Given the description of an element on the screen output the (x, y) to click on. 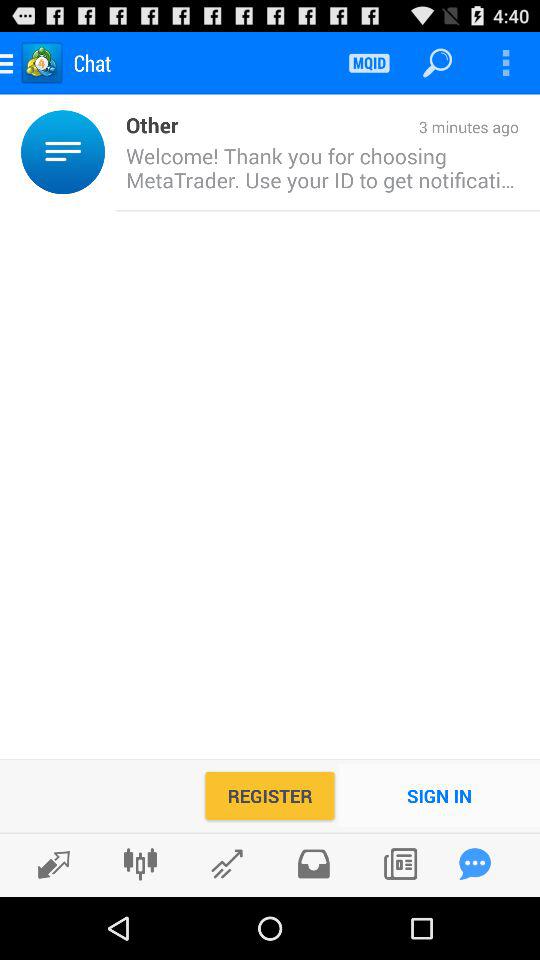
press item to the right of the other (348, 128)
